Given the description of an element on the screen output the (x, y) to click on. 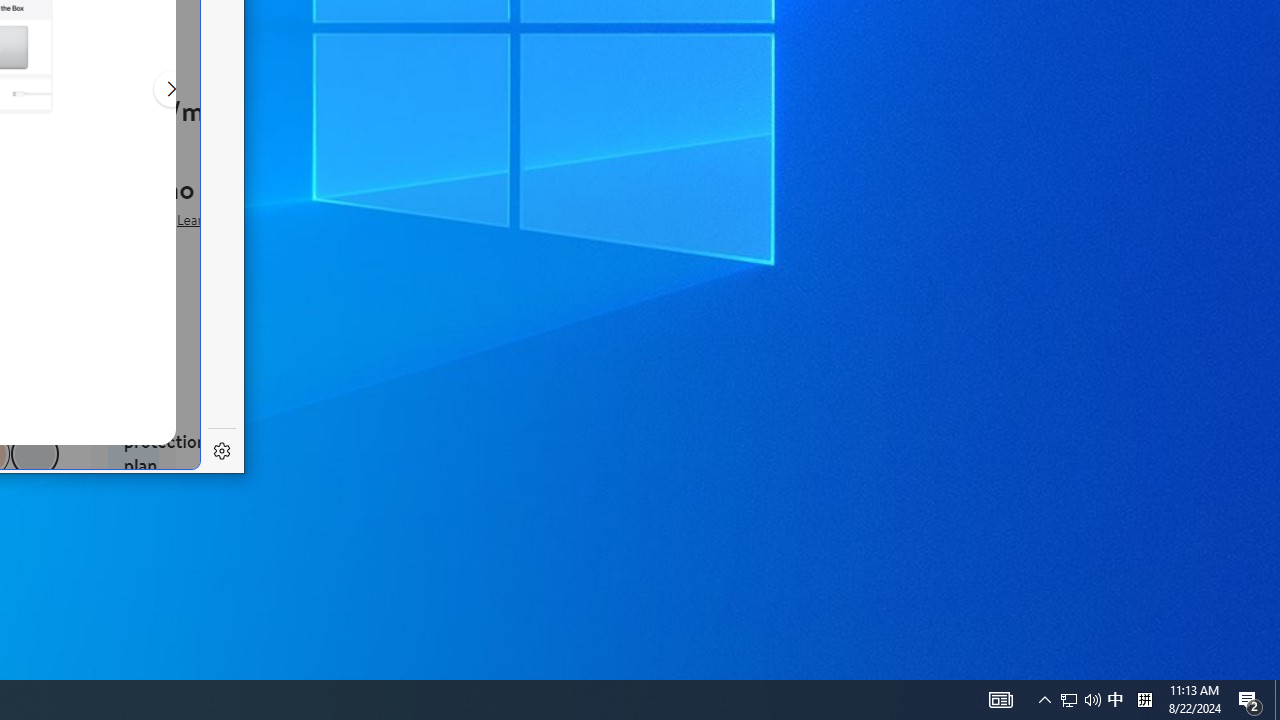
next media item (1115, 699)
